Given the description of an element on the screen output the (x, y) to click on. 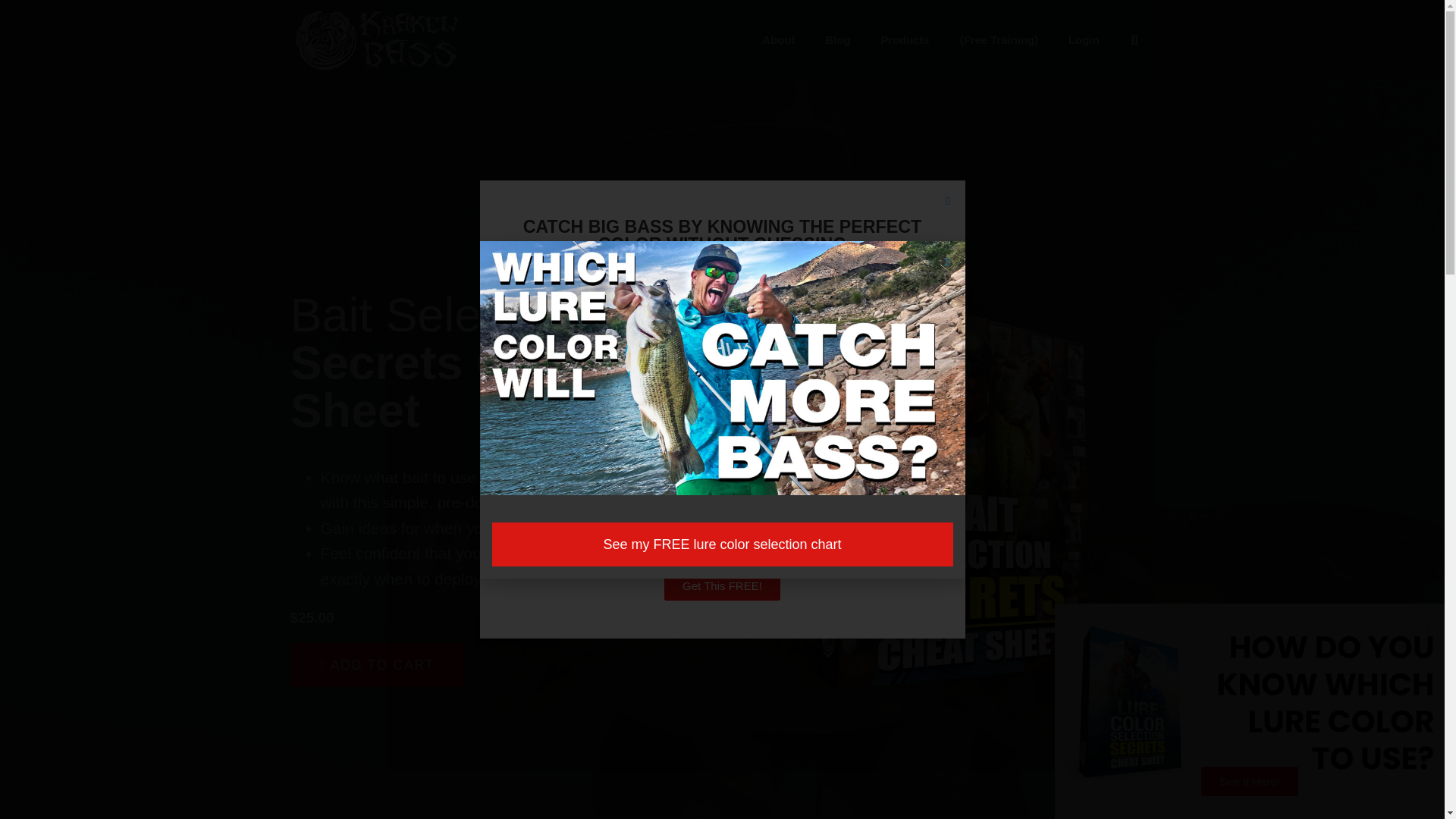
Login (1082, 39)
Blog (836, 39)
About (779, 39)
ADD TO CART (376, 664)
Products (903, 39)
